Given the description of an element on the screen output the (x, y) to click on. 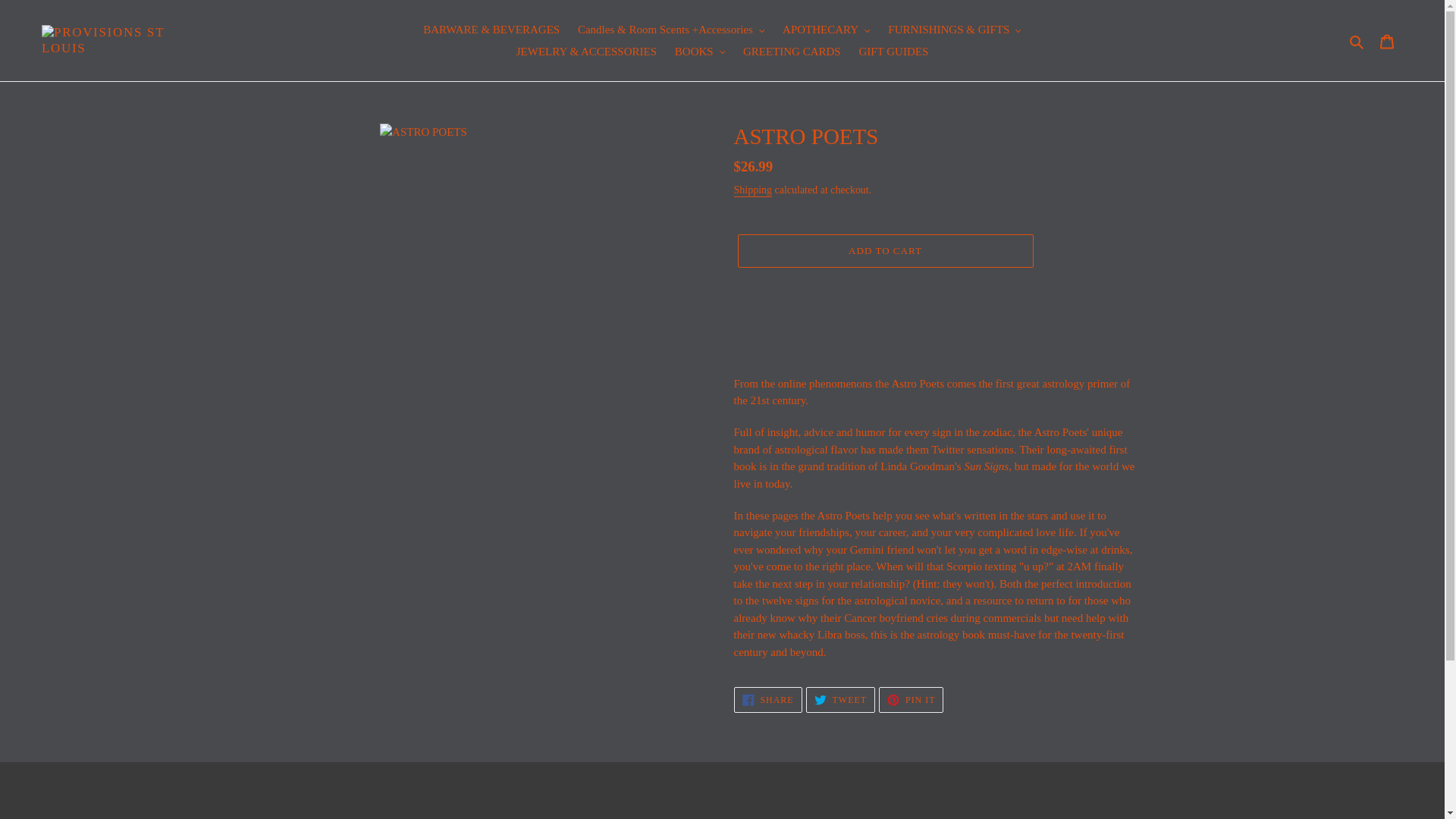
APOTHECARY (825, 29)
Cart (1387, 40)
GIFT GUIDES (893, 51)
GREETING CARDS (791, 51)
Search (1357, 40)
BOOKS (699, 51)
